Given the description of an element on the screen output the (x, y) to click on. 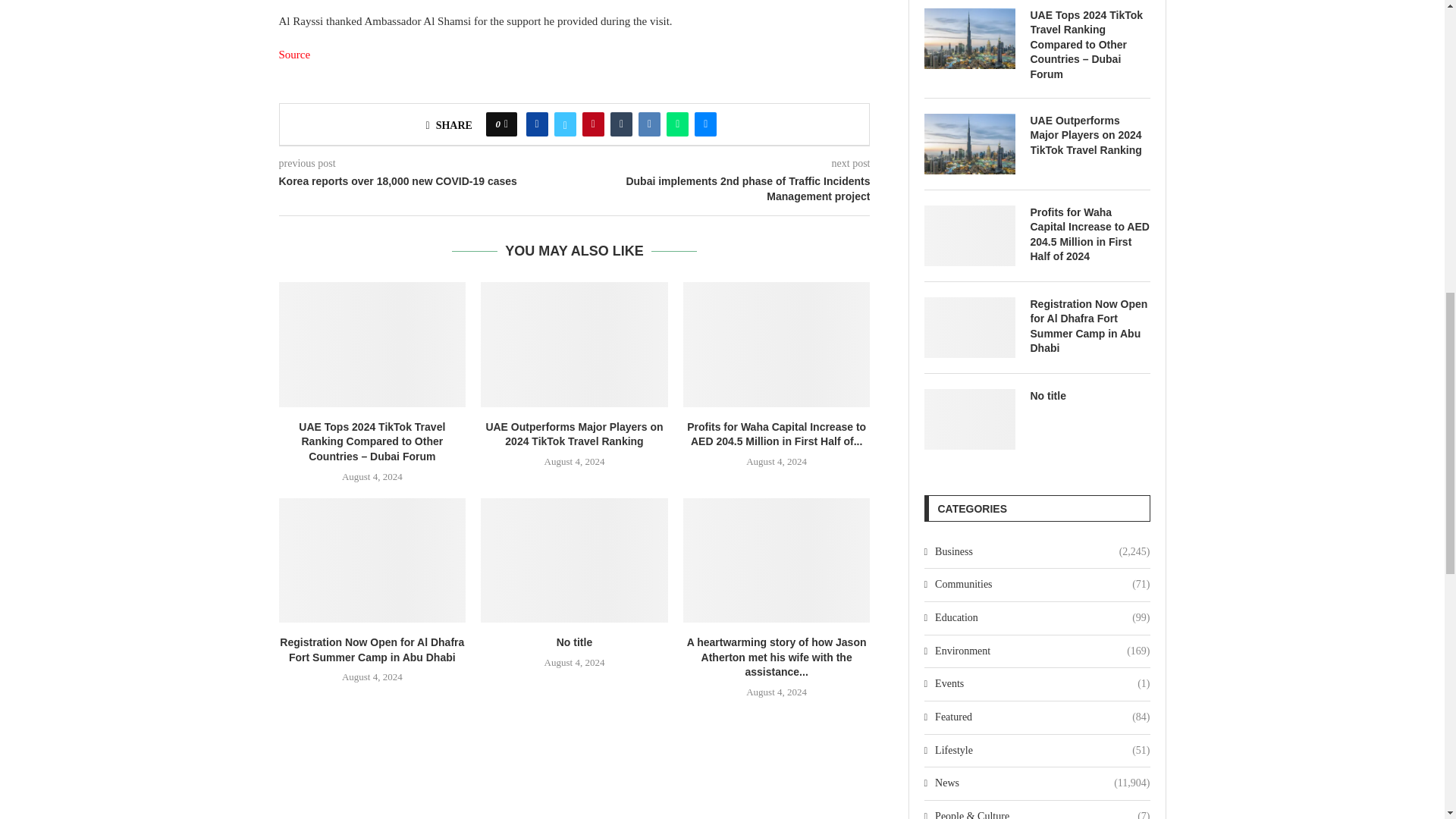
UAE Outperforms Major Players on 2024 TikTok Travel Ranking (1089, 135)
No title (574, 559)
UAE Outperforms Major Players on 2024 TikTok Travel Ranking (574, 343)
UAE Outperforms Major Players on 2024 TikTok Travel Ranking (968, 143)
